Given the description of an element on the screen output the (x, y) to click on. 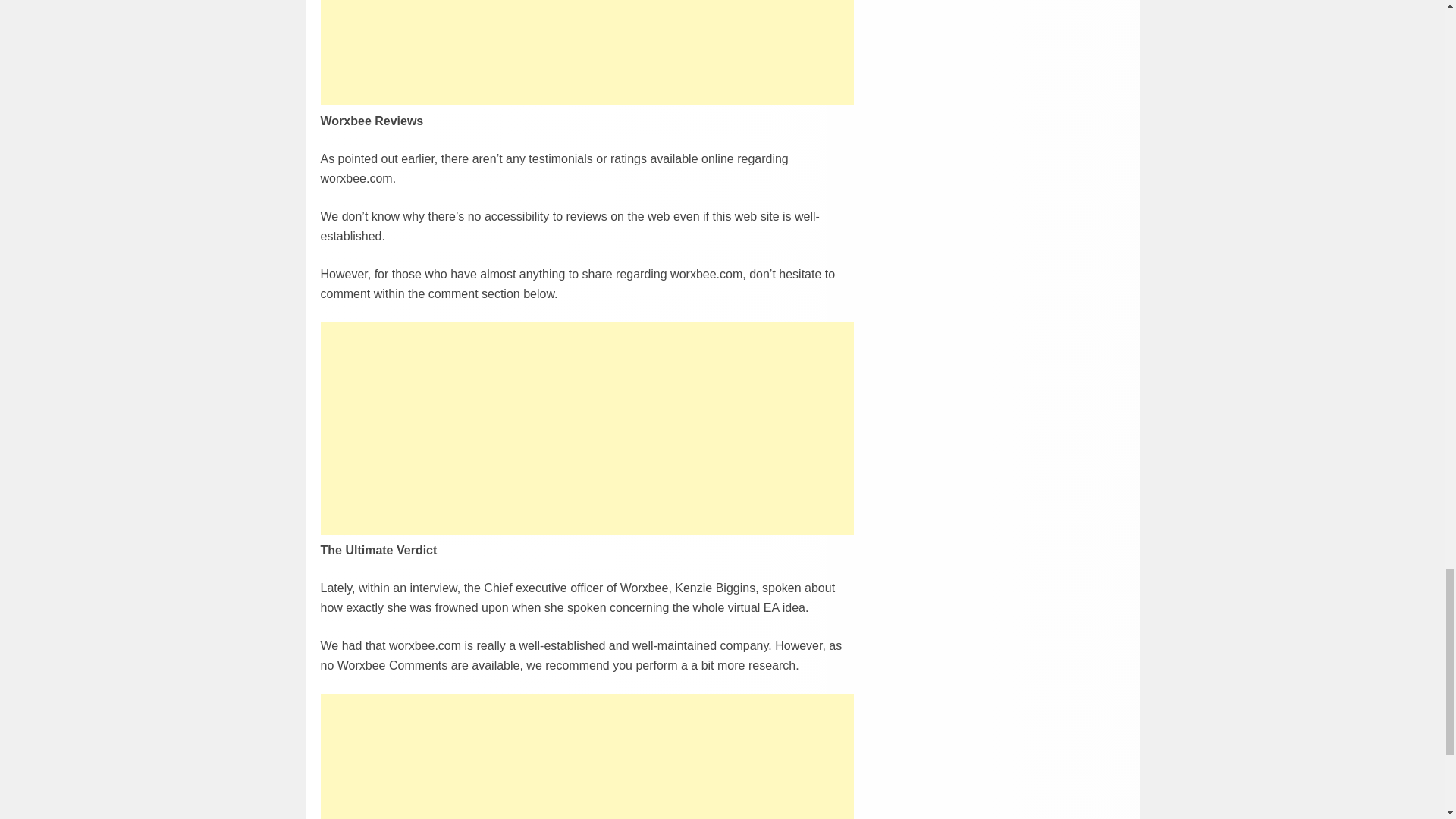
Advertisement (586, 427)
Advertisement (586, 52)
Advertisement (586, 755)
